Given the description of an element on the screen output the (x, y) to click on. 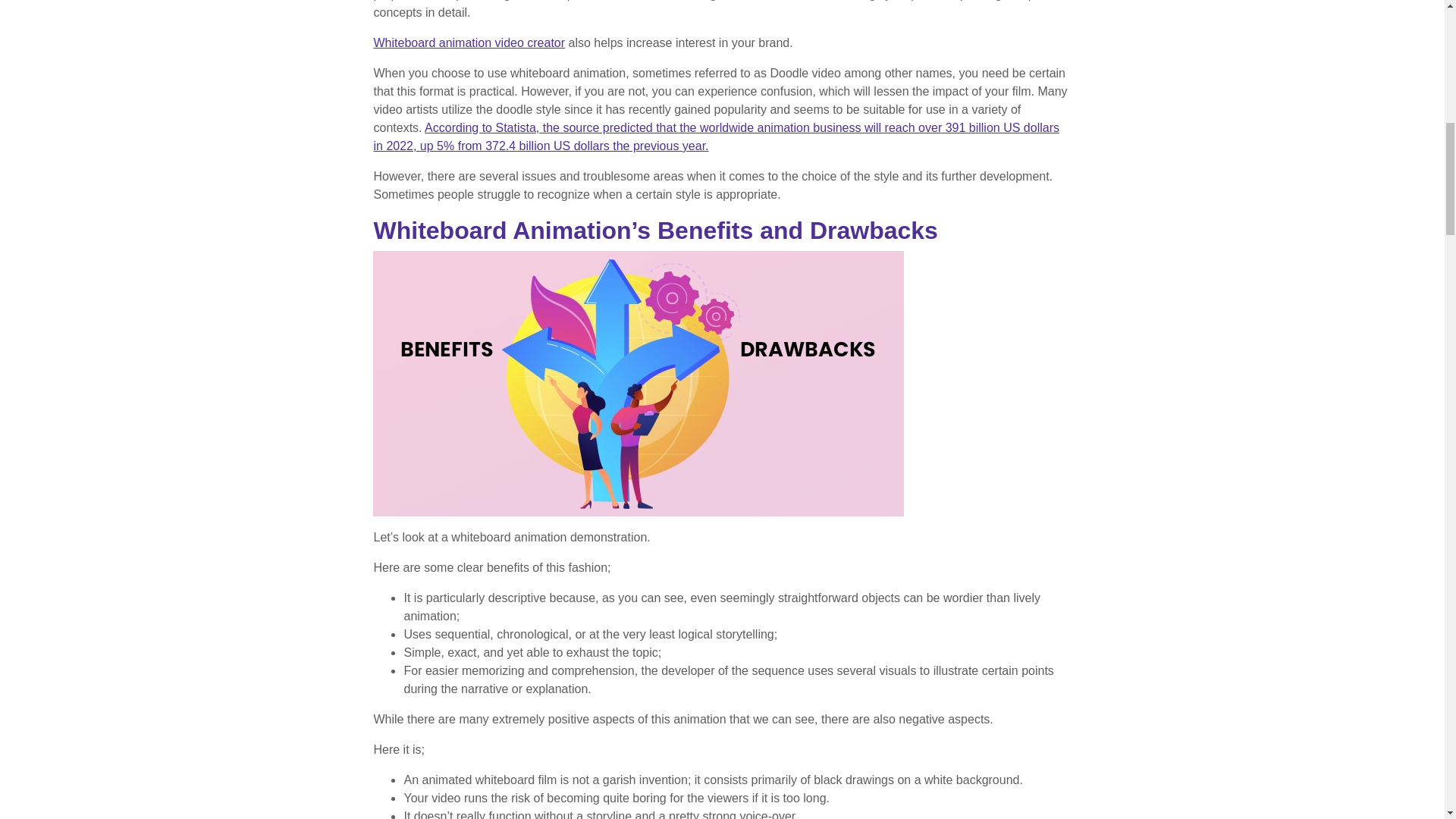
Whiteboard animation video creator (468, 42)
